Given the description of an element on the screen output the (x, y) to click on. 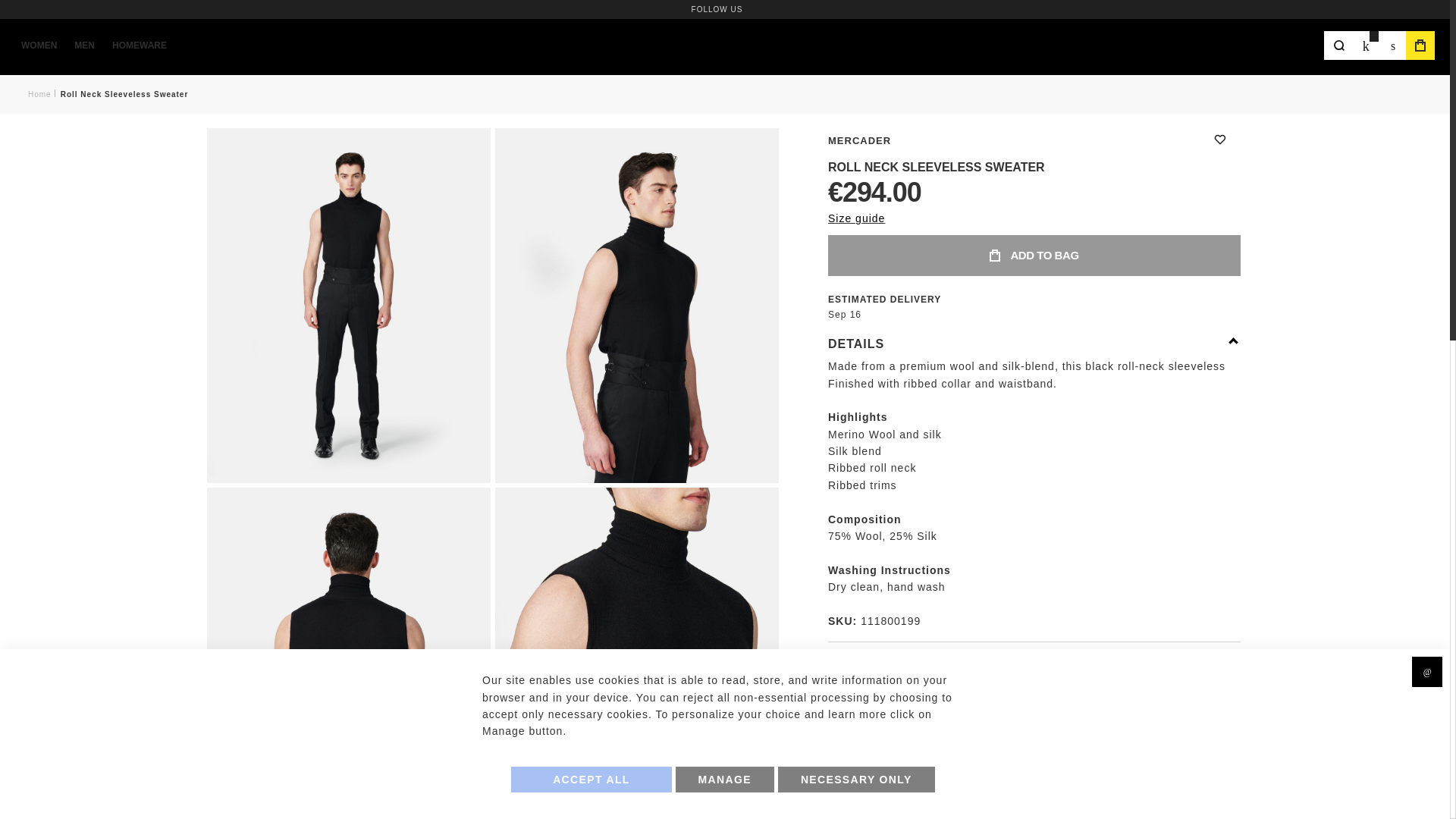
MEN (90, 45)
Add to Bag (1034, 255)
WOMEN (45, 45)
Home (38, 94)
My Wish List (1365, 45)
FOLLOW US (717, 8)
